Given the description of an element on the screen output the (x, y) to click on. 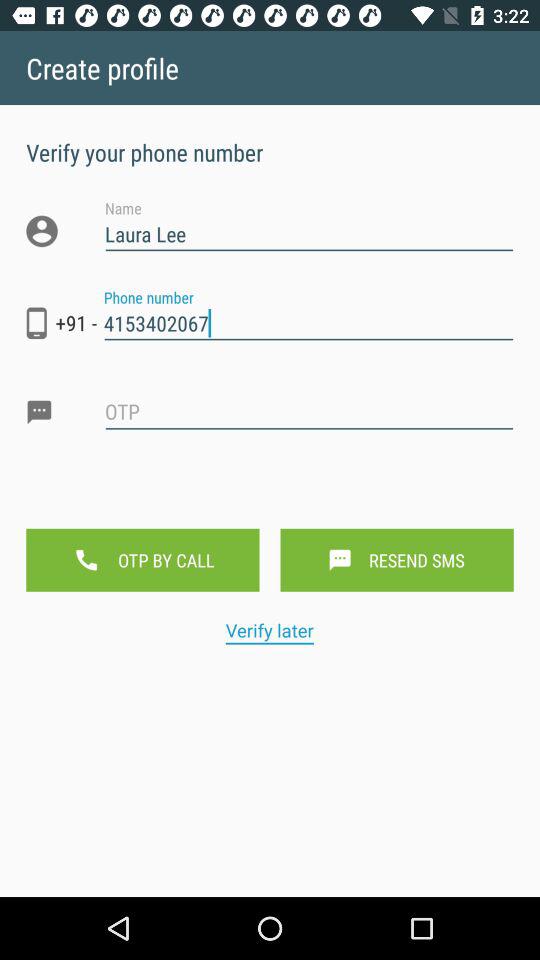
otp box (309, 428)
